Given the description of an element on the screen output the (x, y) to click on. 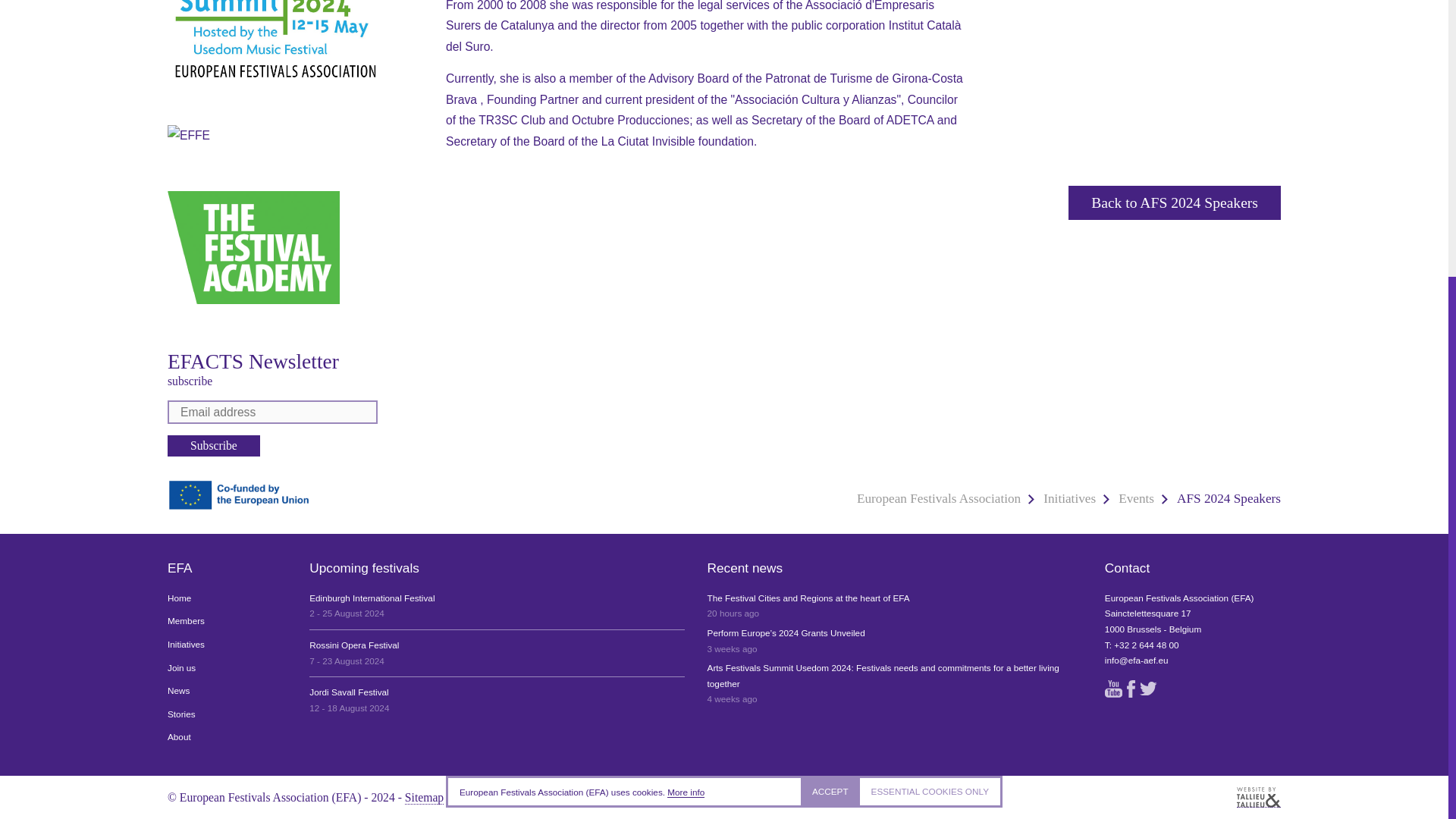
More info (685, 373)
Stories (226, 714)
About (226, 737)
European Festivals Association (938, 498)
AFS 2024 Speakers (1228, 498)
Home (226, 598)
ACCEPT (830, 372)
Events (1136, 498)
Join us (226, 668)
Initiatives (1069, 498)
Initiatives (226, 644)
News (226, 691)
Back to AFS 2024 Speakers (1174, 202)
Subscribe (213, 444)
More info (685, 373)
